Given the description of an element on the screen output the (x, y) to click on. 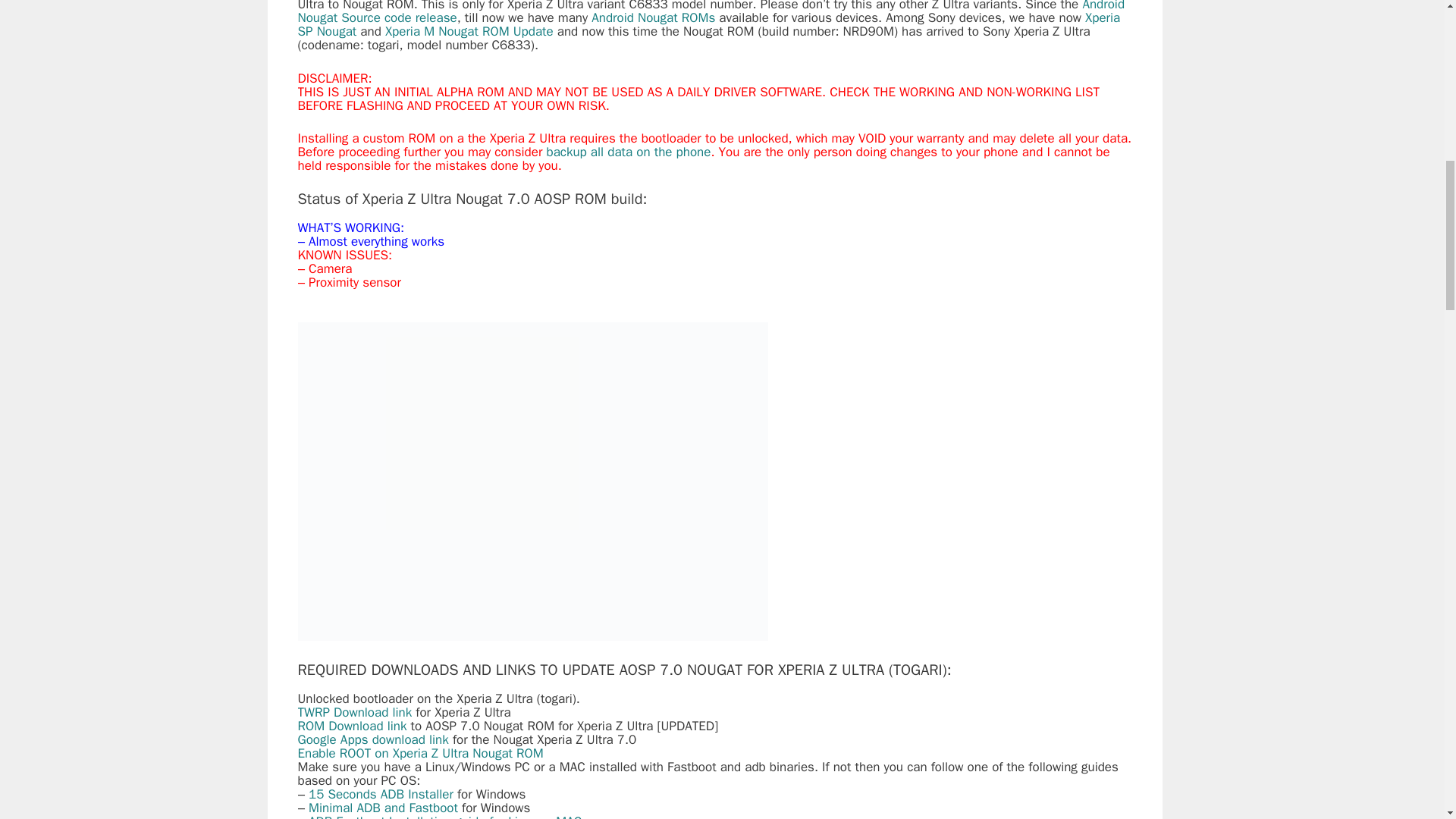
ROM Download link (351, 725)
backup all data on the phone (628, 151)
Xperia M Nougat ROM Update (469, 31)
Android Nougat ROMs (652, 17)
TWRP Download link (354, 712)
Enable ROOT on Xperia Z Ultra Nougat ROM (420, 753)
Xperia SP Nougat (708, 24)
15 Seconds ADB Installer (380, 794)
Google Apps download link (372, 739)
Minimal ADB and Fastboot (383, 807)
